Given the description of an element on the screen output the (x, y) to click on. 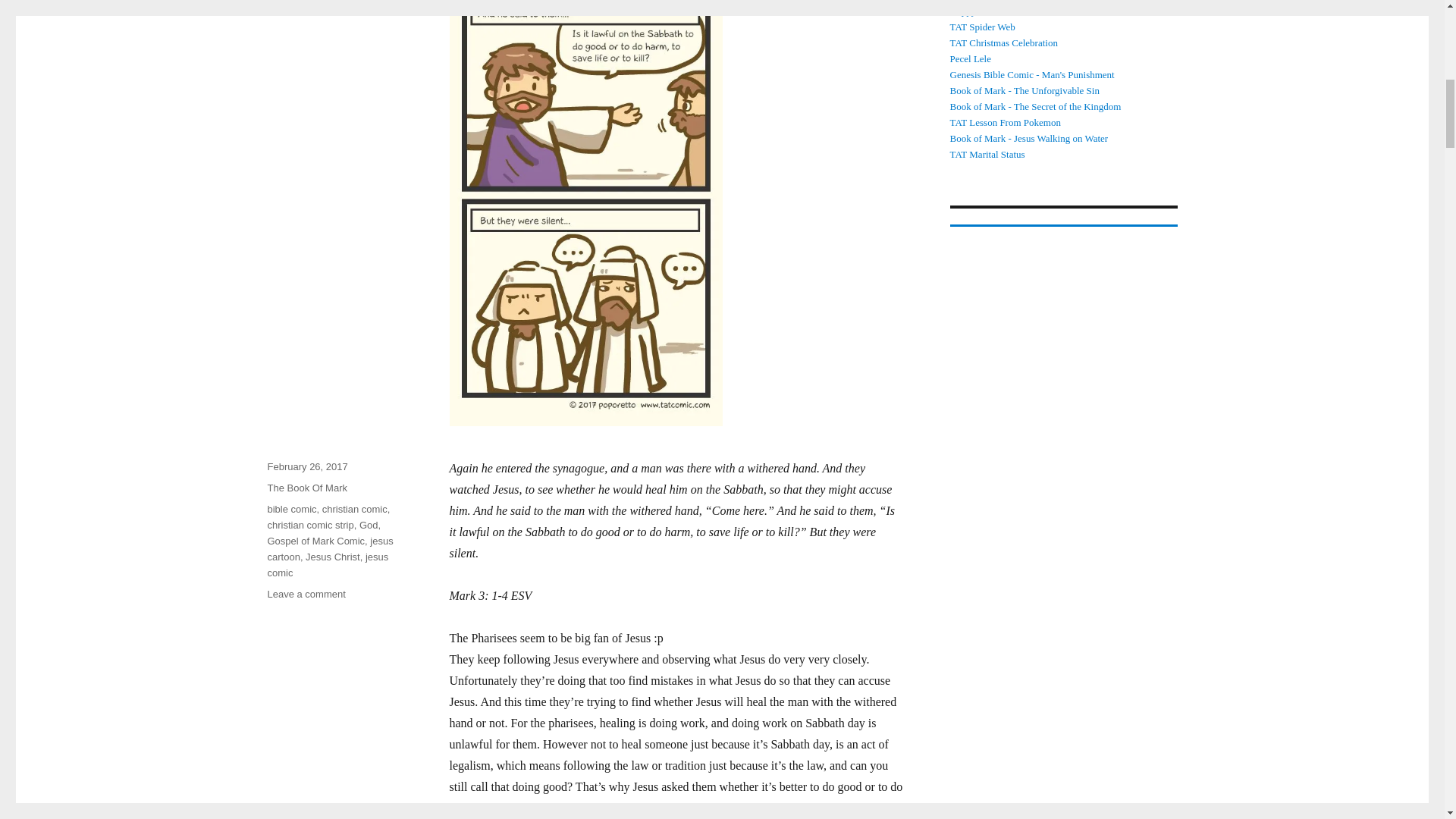
christian comic strip (309, 524)
Jesus Christ (332, 556)
Gospel of Mark Comic (315, 541)
bible comic (290, 509)
christian comic (354, 509)
jesus cartoon (329, 548)
jesus comic (327, 564)
The Book Of Mark (306, 487)
February 26, 2017 (306, 466)
God (368, 524)
